Given the description of an element on the screen output the (x, y) to click on. 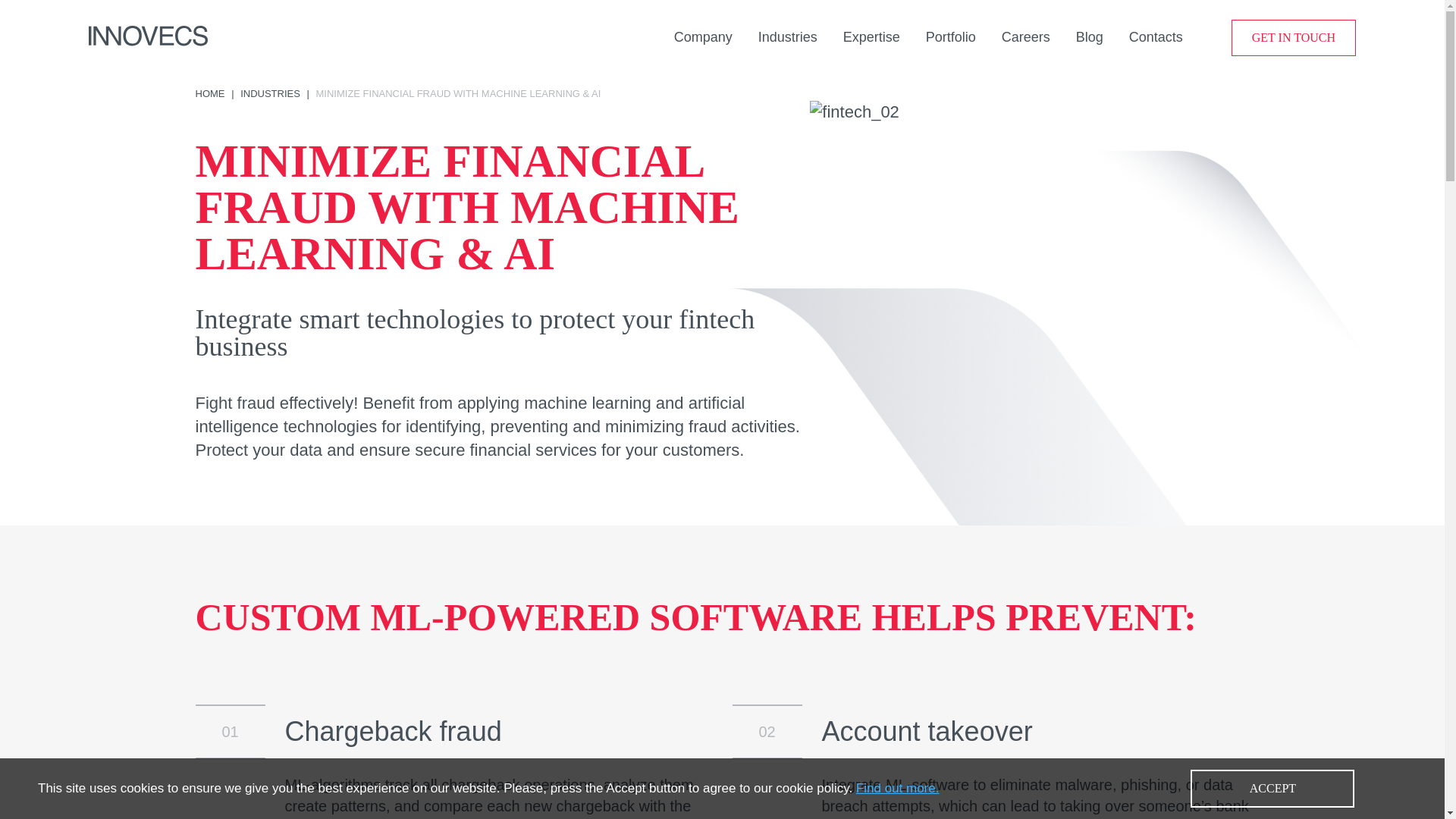
Company (703, 36)
Portfolio (950, 36)
Contacts (1155, 36)
INDUSTRIES (269, 93)
Expertise (871, 36)
HOME (210, 93)
Blog (1089, 36)
Careers (1025, 36)
